Given the description of an element on the screen output the (x, y) to click on. 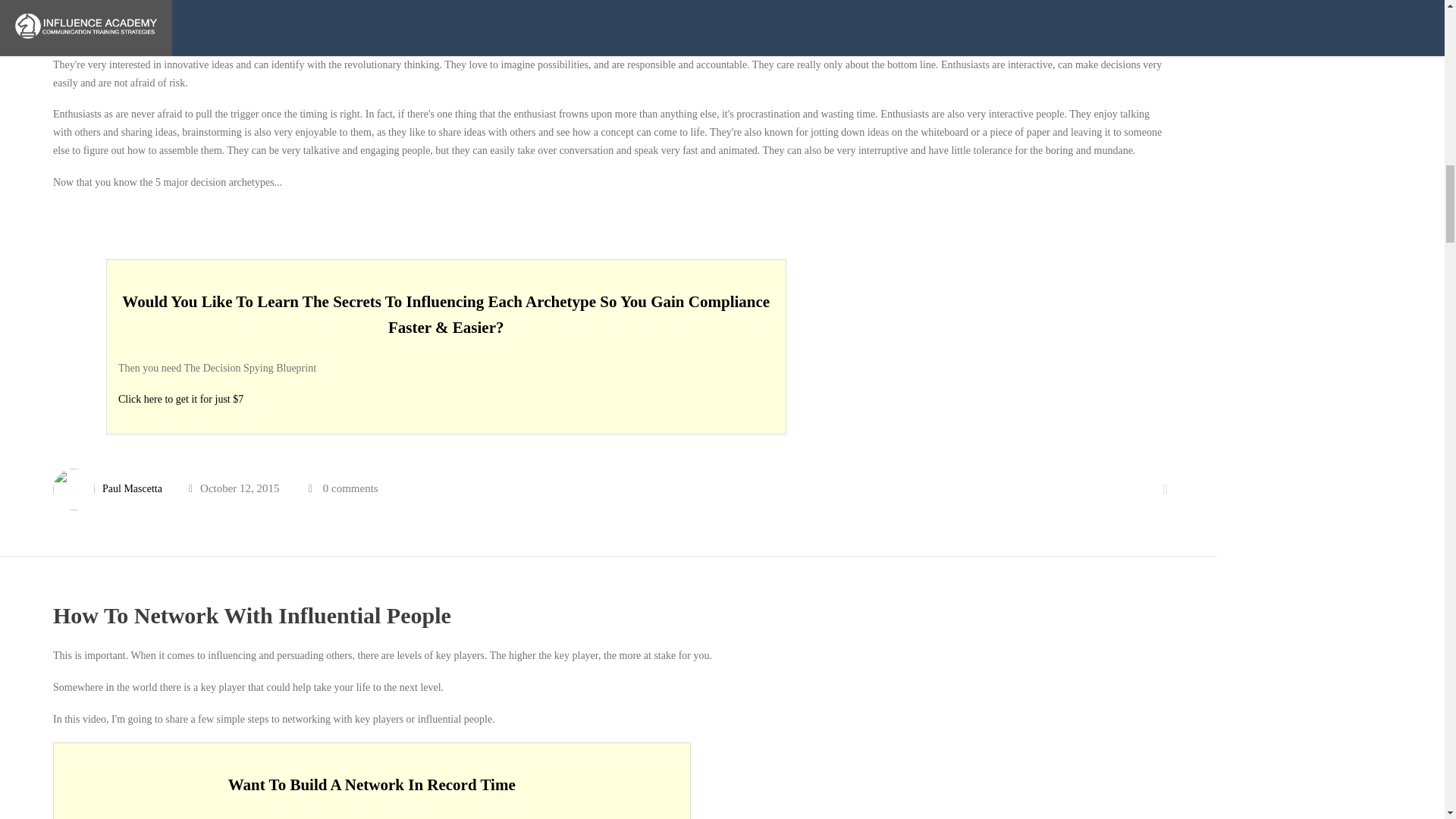
Permalink to How To Network With Influential People (251, 615)
0 comments (350, 488)
Paul Mascetta (131, 488)
How To Network With Influential People (251, 615)
4:48 pm (234, 488)
View all posts by Paul Mascetta (131, 488)
October 12, 2015 (234, 488)
